Given the description of an element on the screen output the (x, y) to click on. 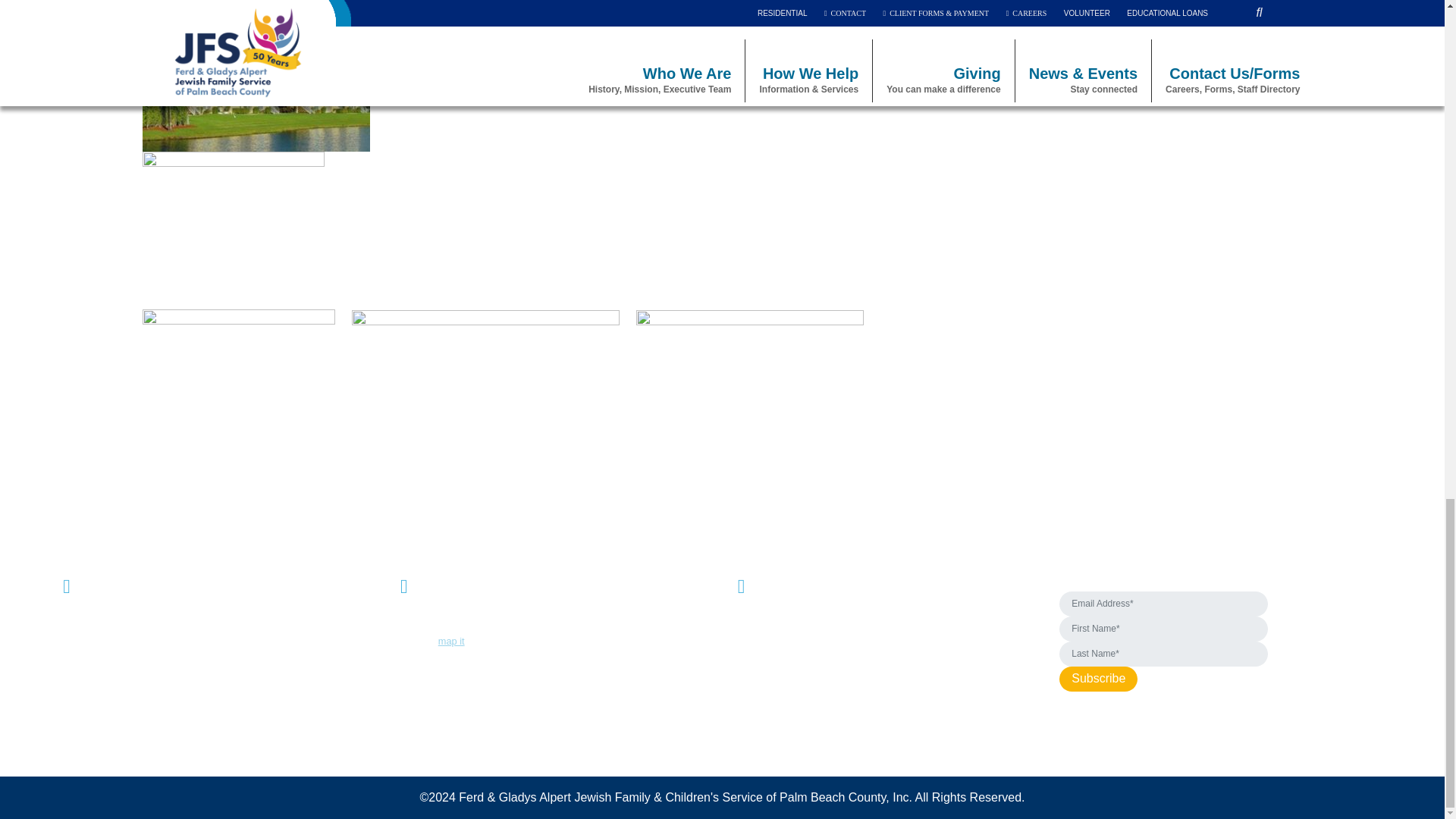
Subscribe (1098, 678)
